Given the description of an element on the screen output the (x, y) to click on. 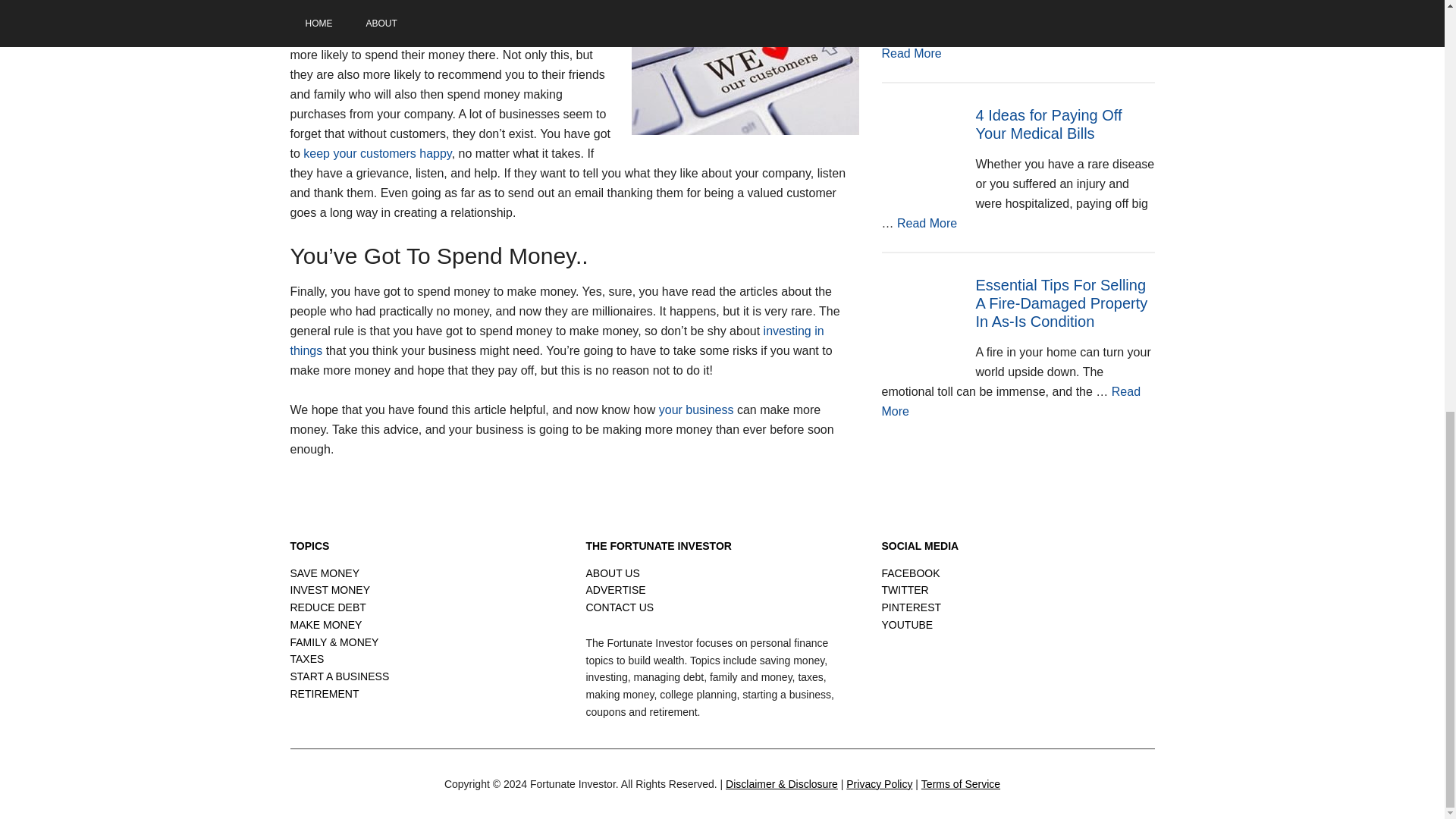
How Can Your Business Make More Money? 2 (744, 67)
investing in things (556, 340)
your business (696, 409)
4 Ideas for Paying Off Your Medical Bills (1048, 124)
keep your customers happy (926, 223)
